Given the description of an element on the screen output the (x, y) to click on. 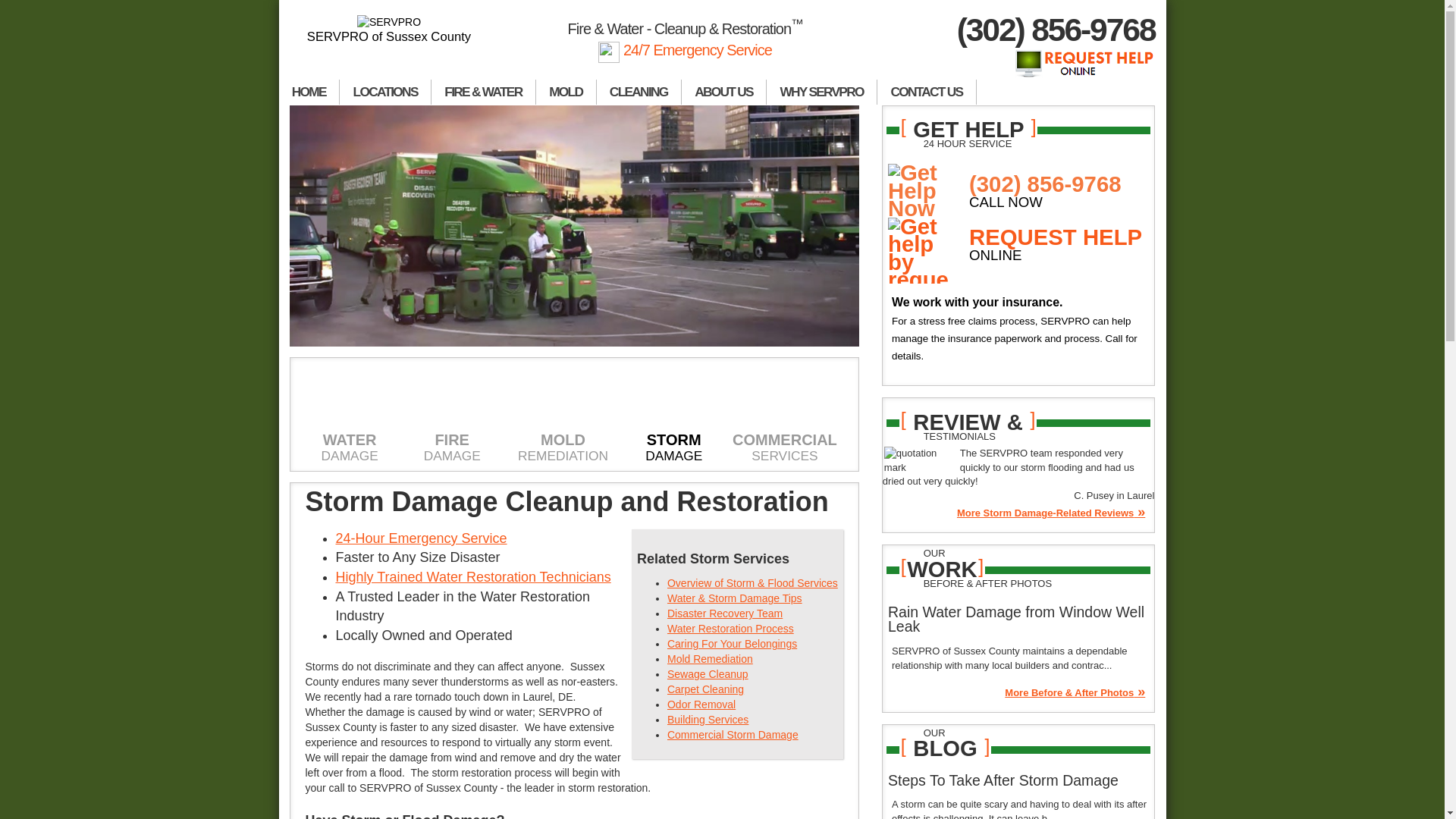
HOME (309, 91)
MOLD (565, 91)
ABOUT US (724, 91)
CLEANING (638, 91)
LOCATIONS (384, 91)
SERVPRO of Sussex County (389, 30)
